Given the description of an element on the screen output the (x, y) to click on. 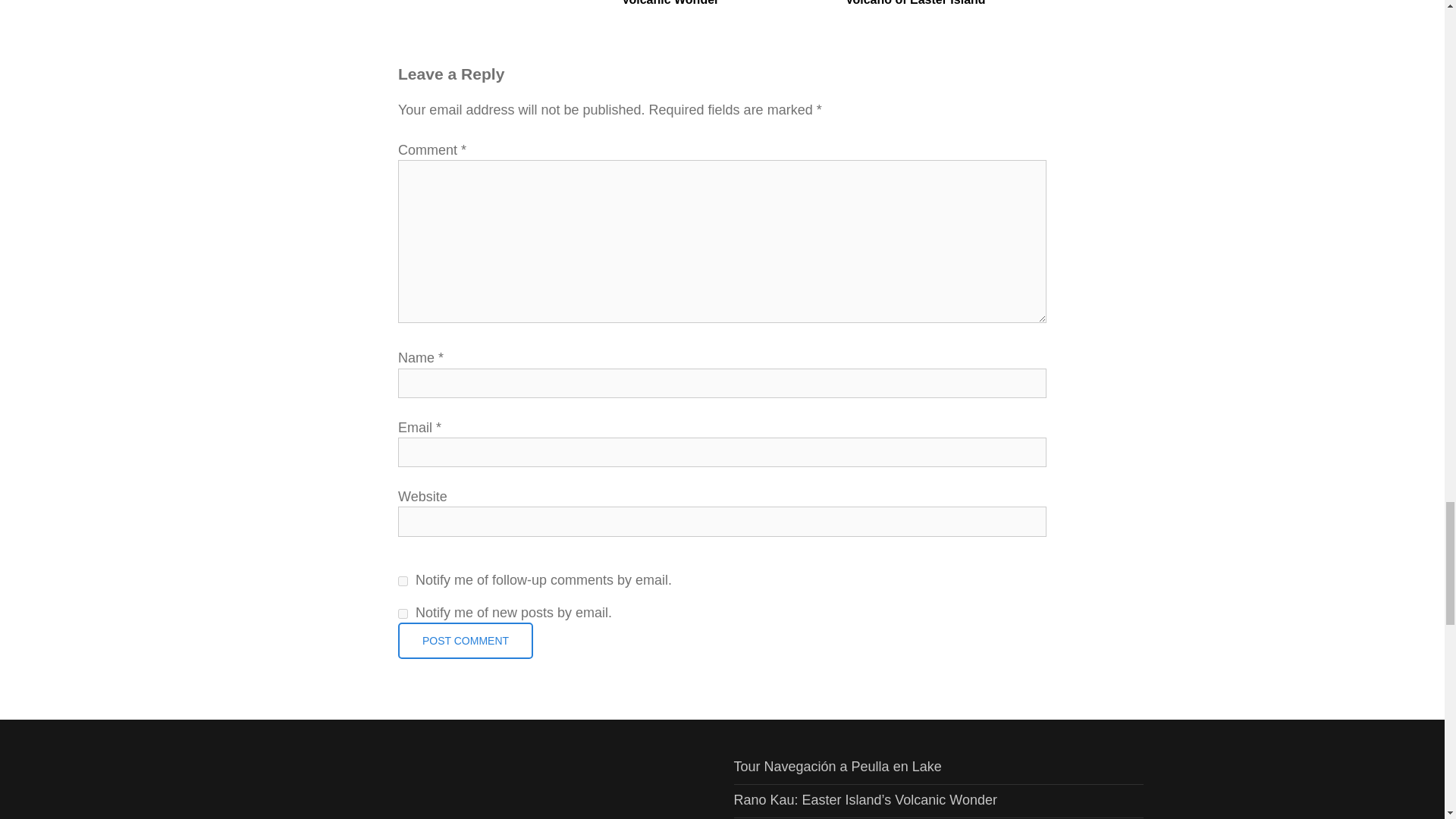
subscribe (402, 581)
Rano Raraku: The Enigmatic Volcano of Easter Island (945, 4)
Post Comment (464, 640)
Rano Raraku: The Enigmatic Volcano of Easter Island (945, 4)
subscribe (402, 614)
Post Comment (464, 640)
